Given the description of an element on the screen output the (x, y) to click on. 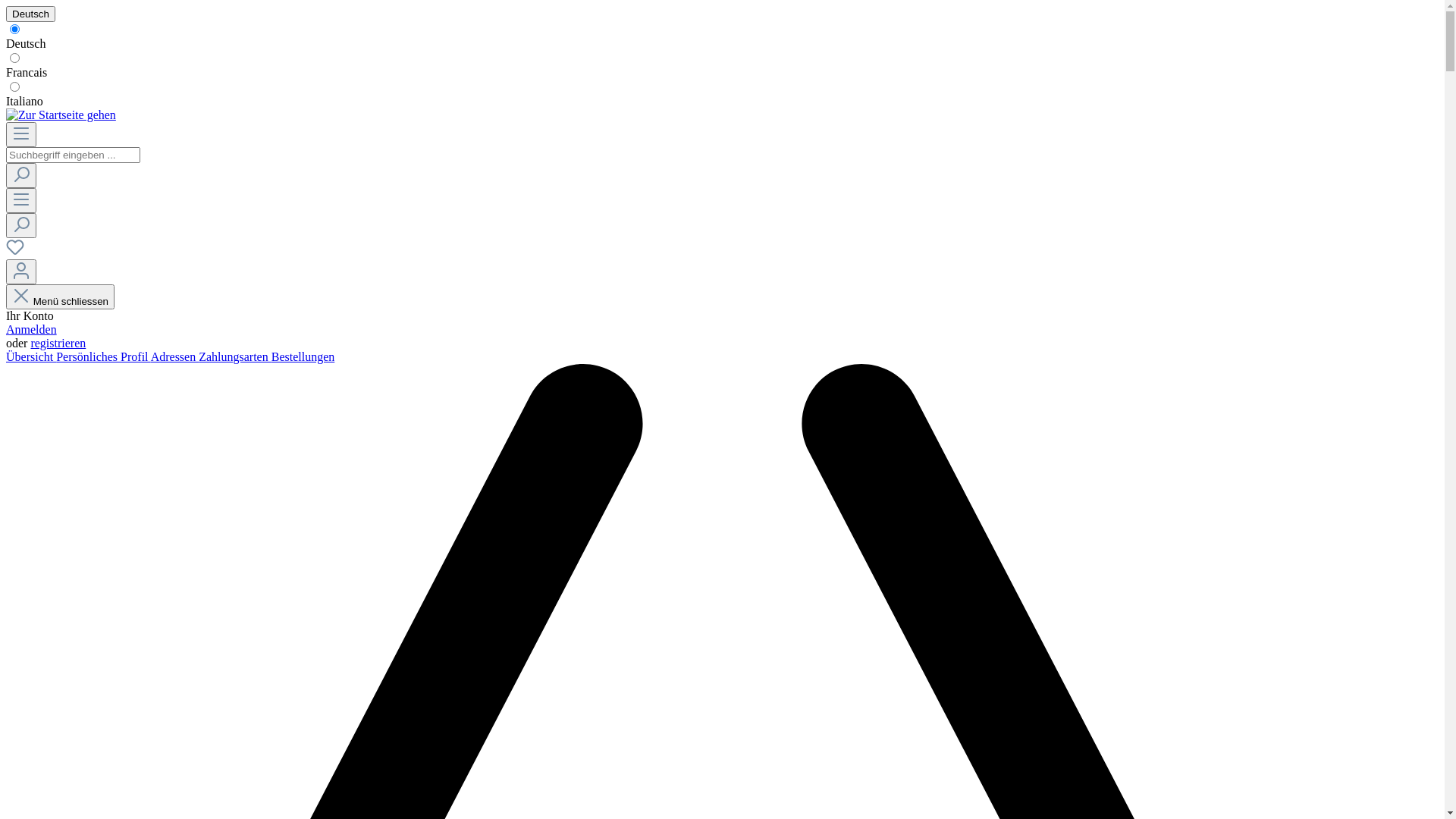
Bestellungen Element type: text (303, 356)
Deutsch Element type: text (30, 13)
Adressen Element type: text (174, 356)
Zahlungsarten Element type: text (234, 356)
Merkzettel Element type: hover (15, 251)
Search Element type: hover (21, 175)
Zur Startseite gehen Element type: hover (61, 114)
Ihr Konto Element type: hover (21, 271)
registrieren Element type: text (57, 342)
Anmelden Element type: text (31, 329)
